Given the description of an element on the screen output the (x, y) to click on. 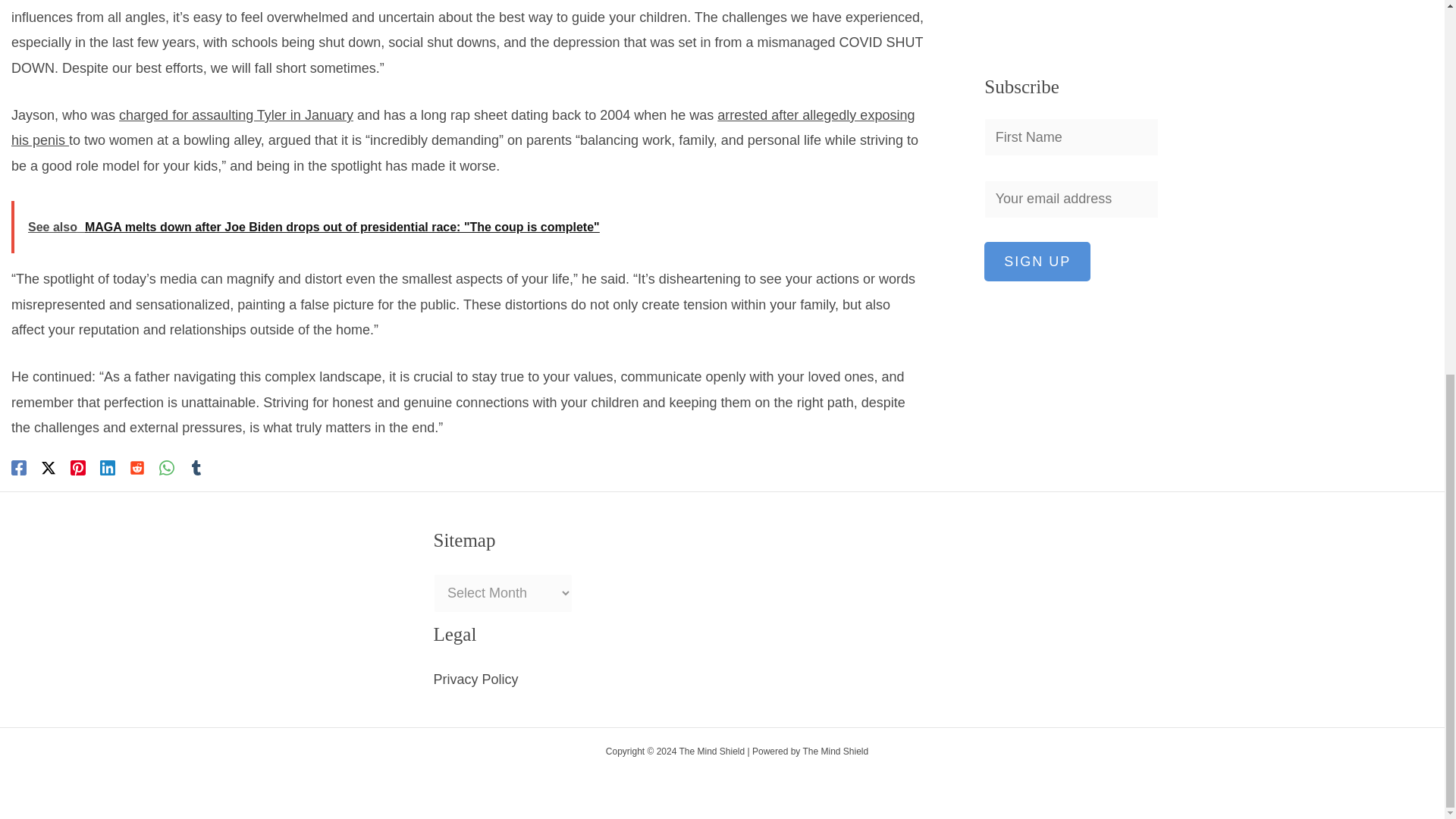
arrested after allegedly exposing his penis (462, 127)
charged for assaulting Tyler in January (236, 114)
